Given the description of an element on the screen output the (x, y) to click on. 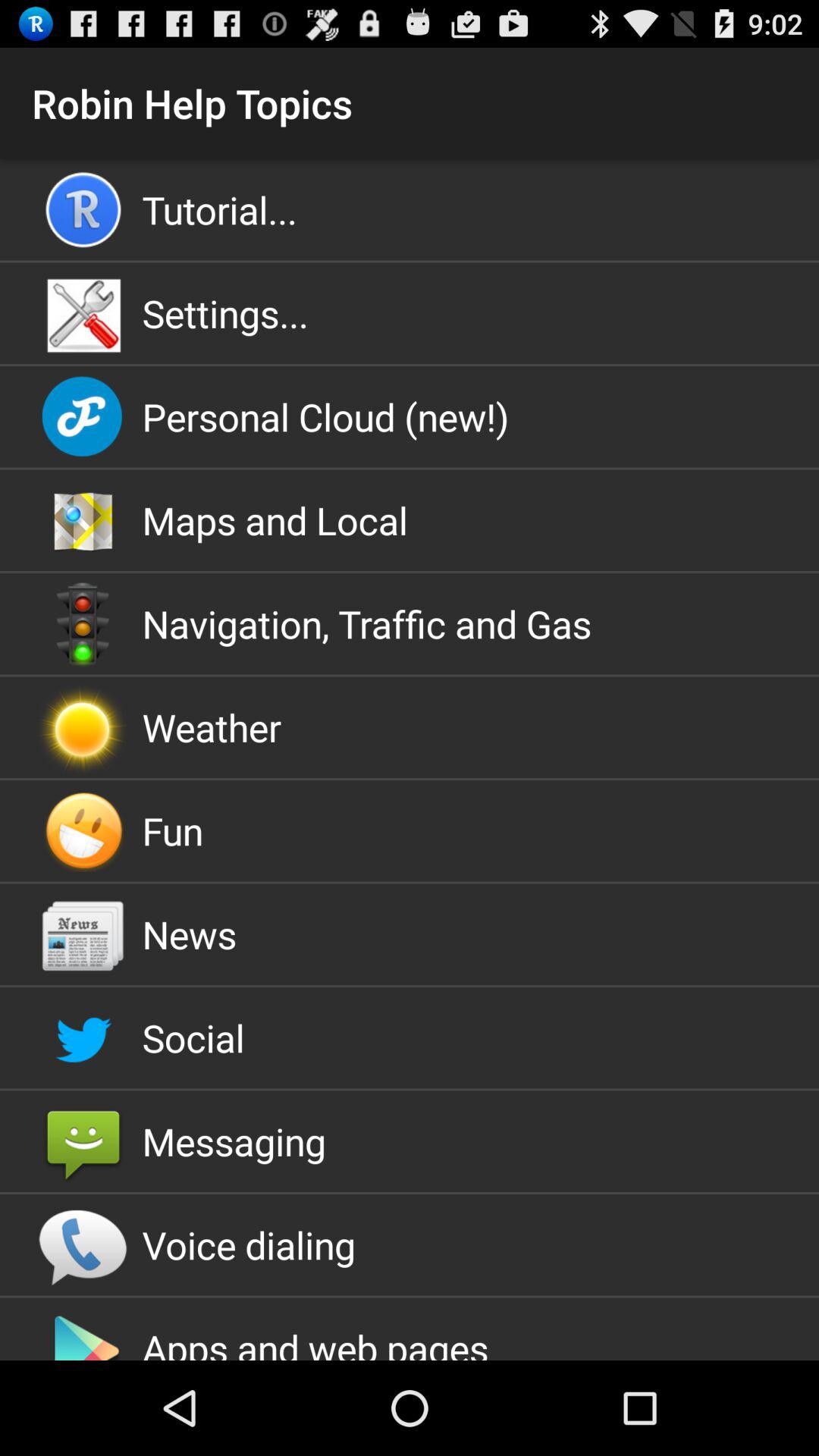
jump until the  tutorial... app (409, 209)
